Given the description of an element on the screen output the (x, y) to click on. 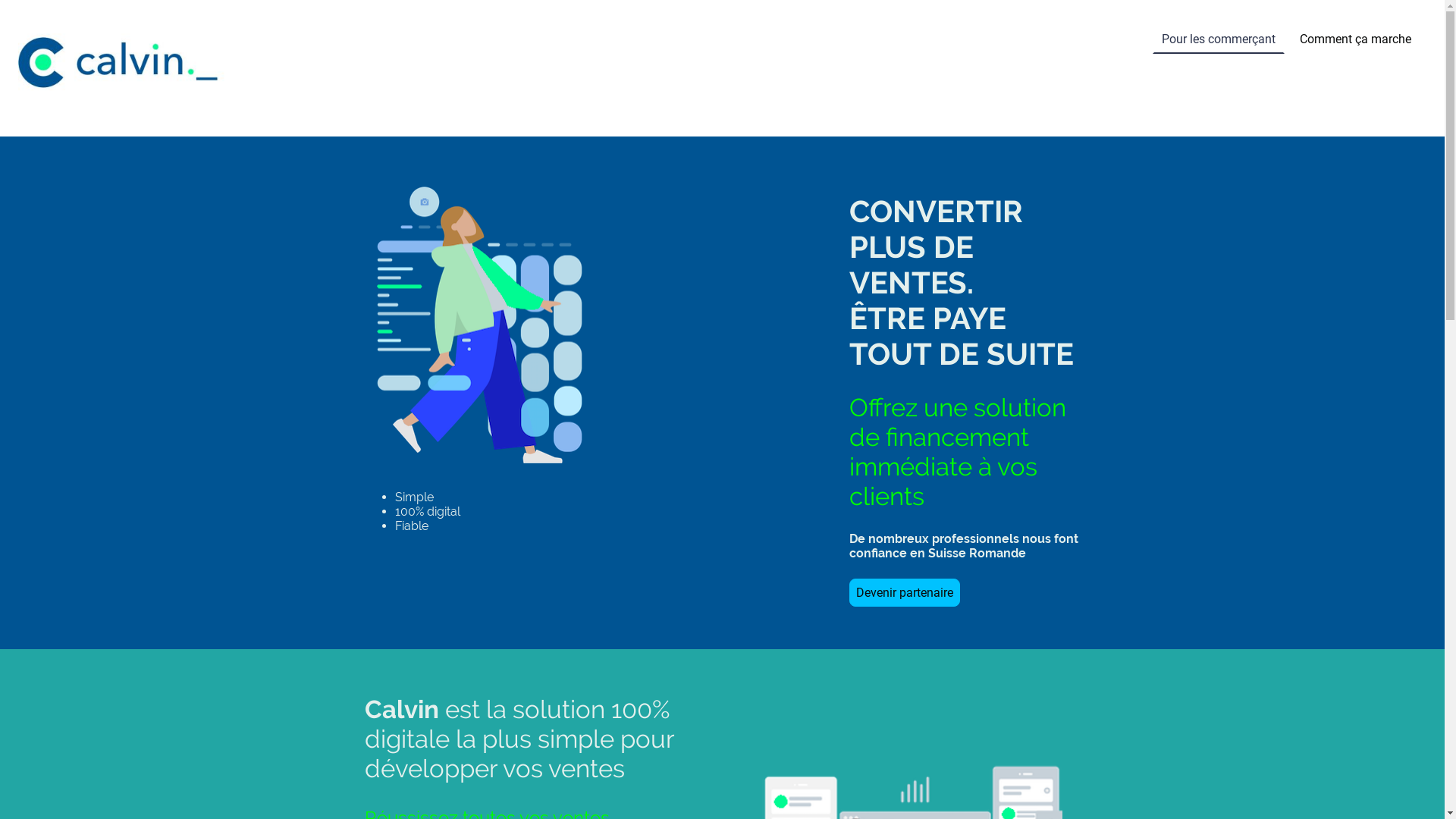
Devenir partenaire Element type: text (904, 592)
